Given the description of an element on the screen output the (x, y) to click on. 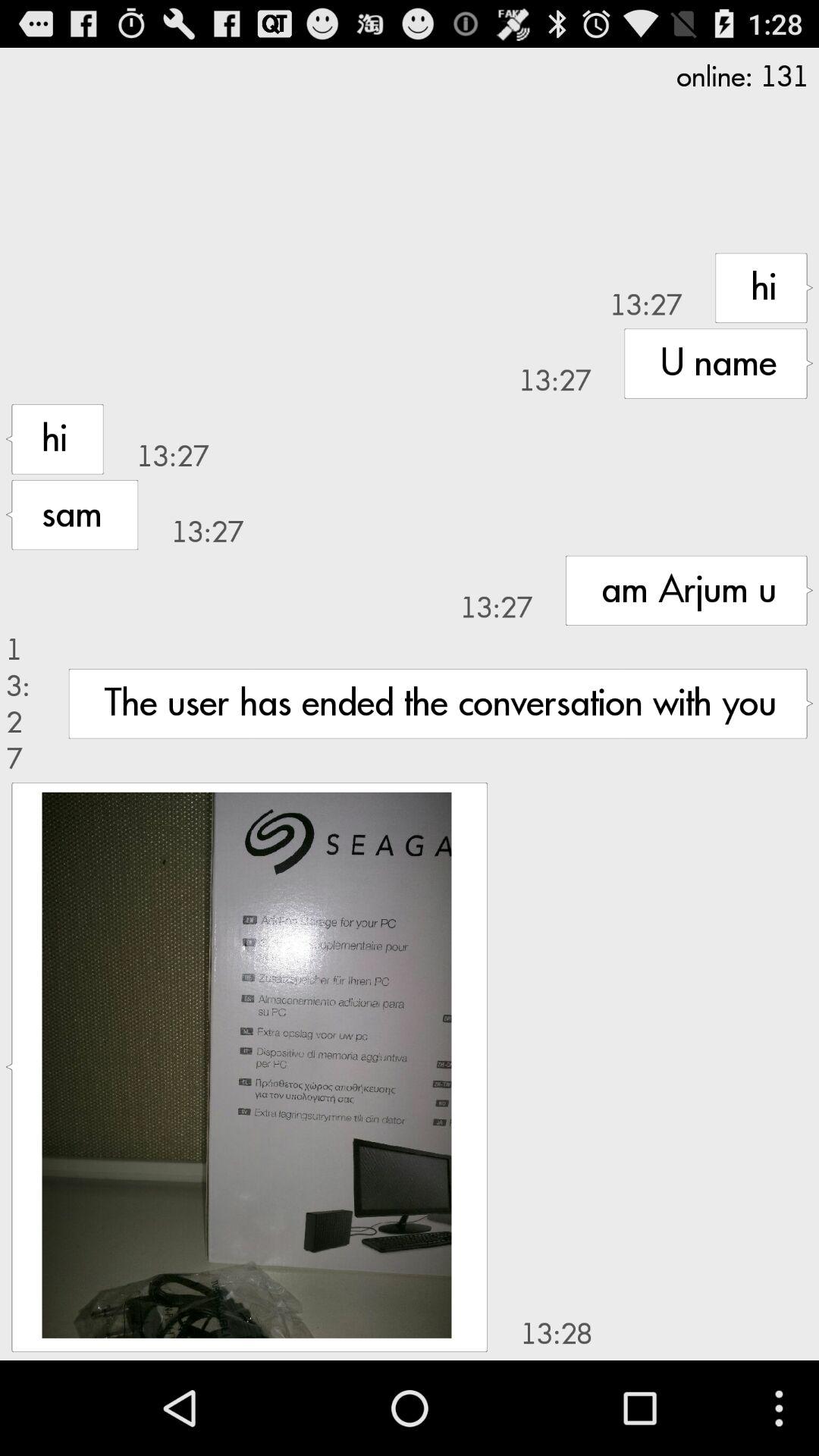
turn off the app next to the 13:28 item (246, 1065)
